Given the description of an element on the screen output the (x, y) to click on. 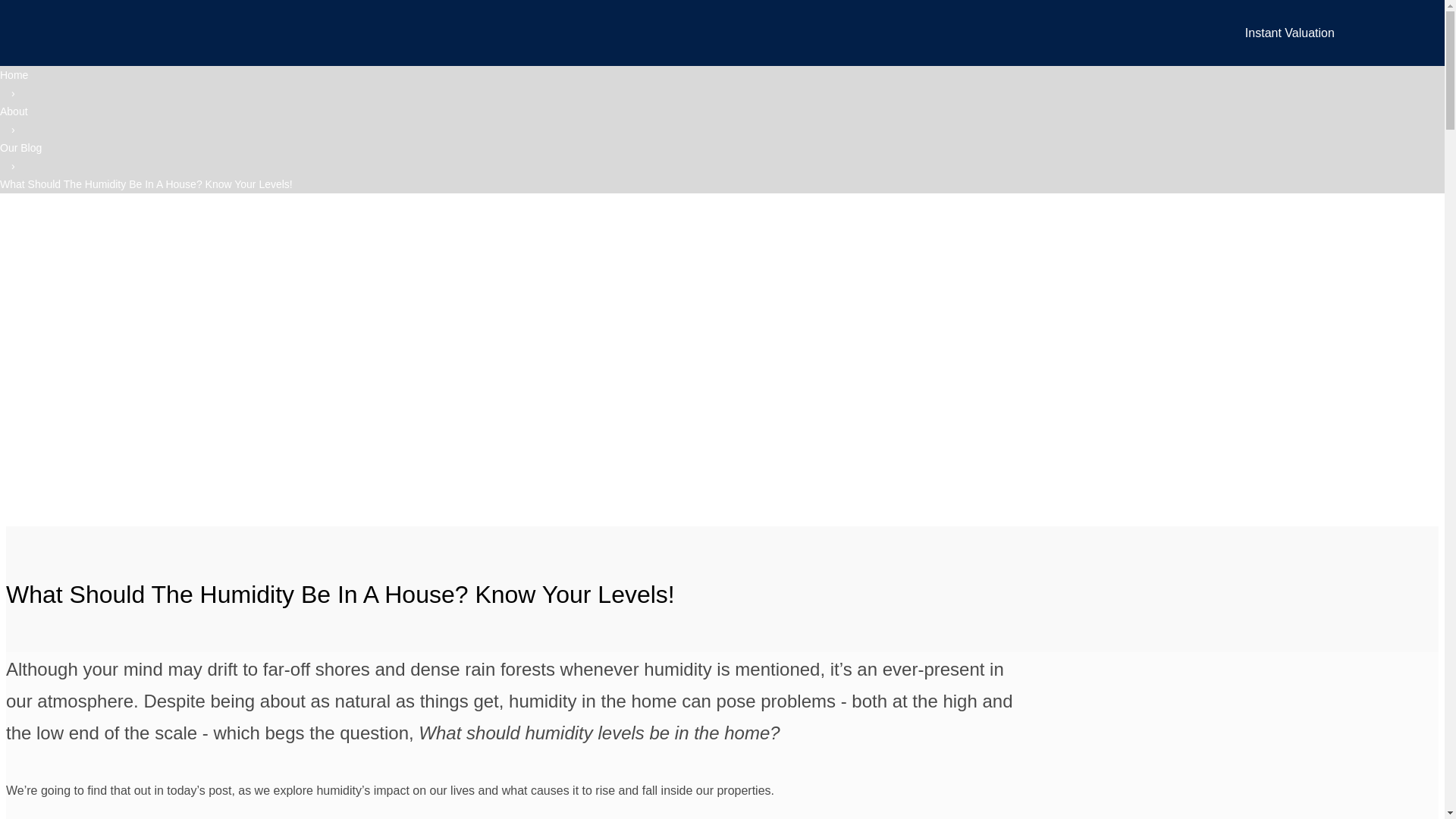
Instant Valuation (1289, 32)
Home (13, 74)
About (13, 111)
Our Blog (21, 147)
